Given the description of an element on the screen output the (x, y) to click on. 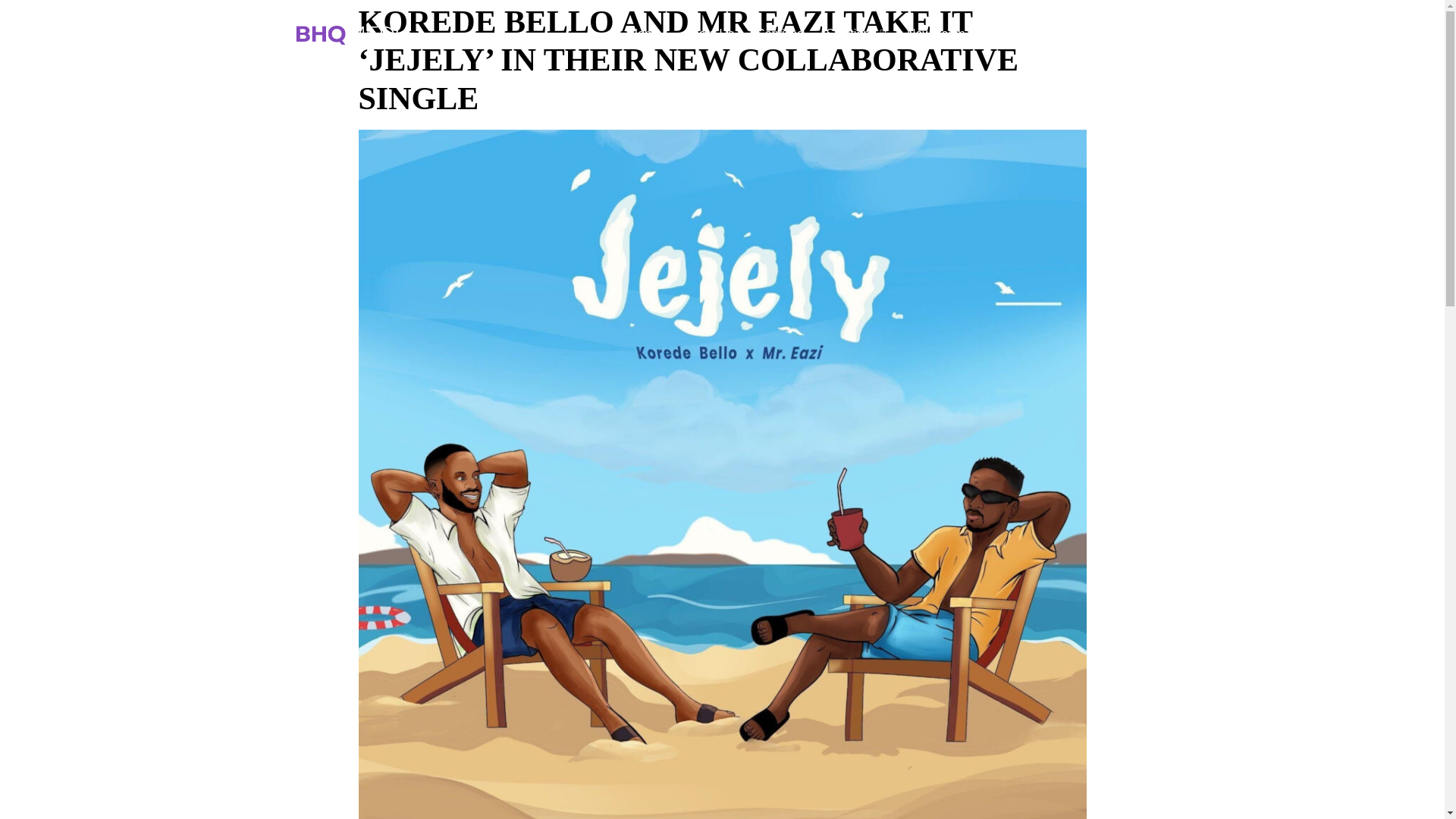
Solutions (854, 34)
Contact Us (1112, 34)
Home (644, 34)
Blog (1048, 34)
About Us (708, 34)
Services (779, 34)
CSR (1000, 34)
Newsroom (935, 34)
